Given the description of an element on the screen output the (x, y) to click on. 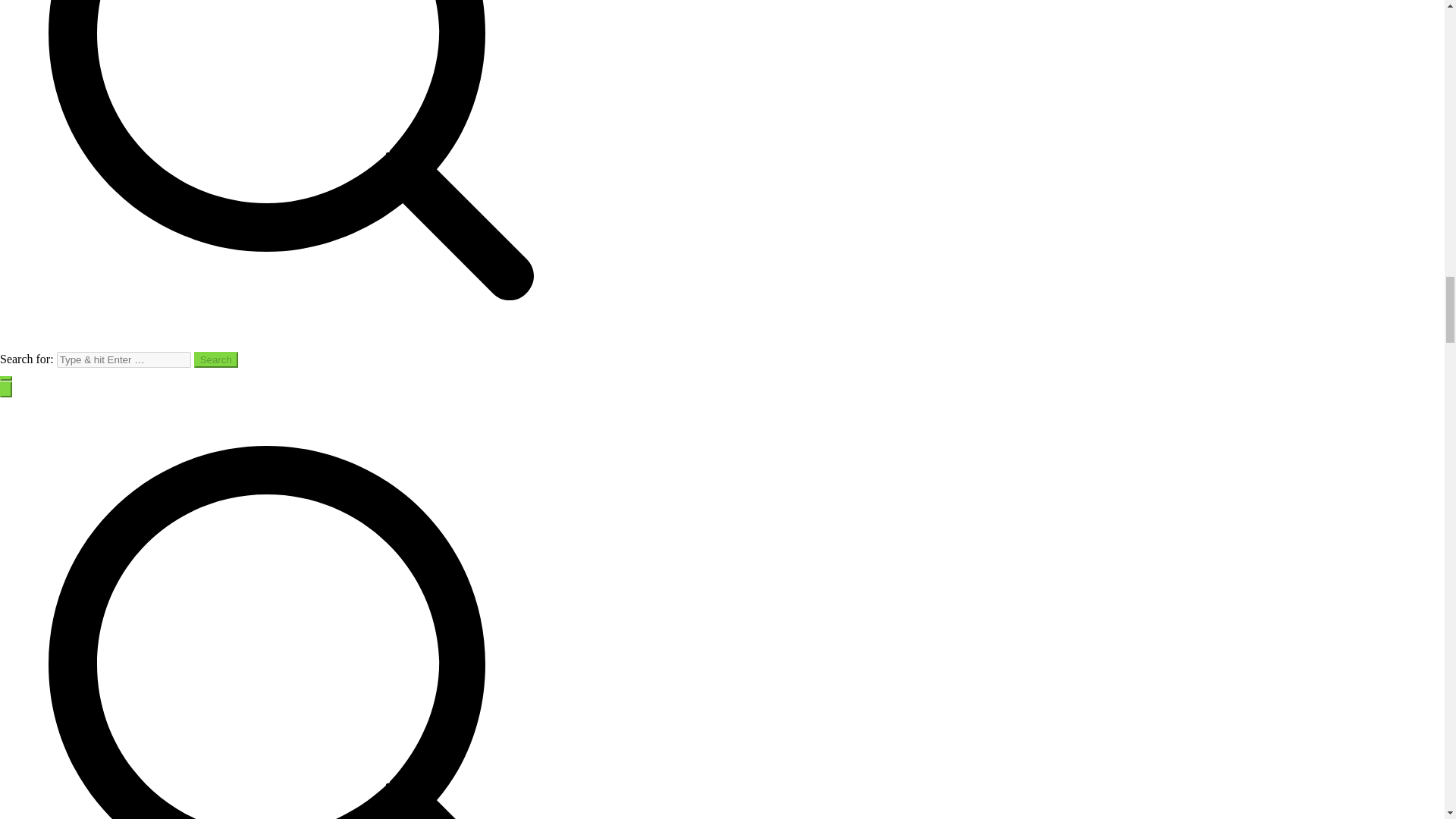
Search (215, 359)
Search (215, 359)
Search (215, 359)
Search for: (123, 359)
